Given the description of an element on the screen output the (x, y) to click on. 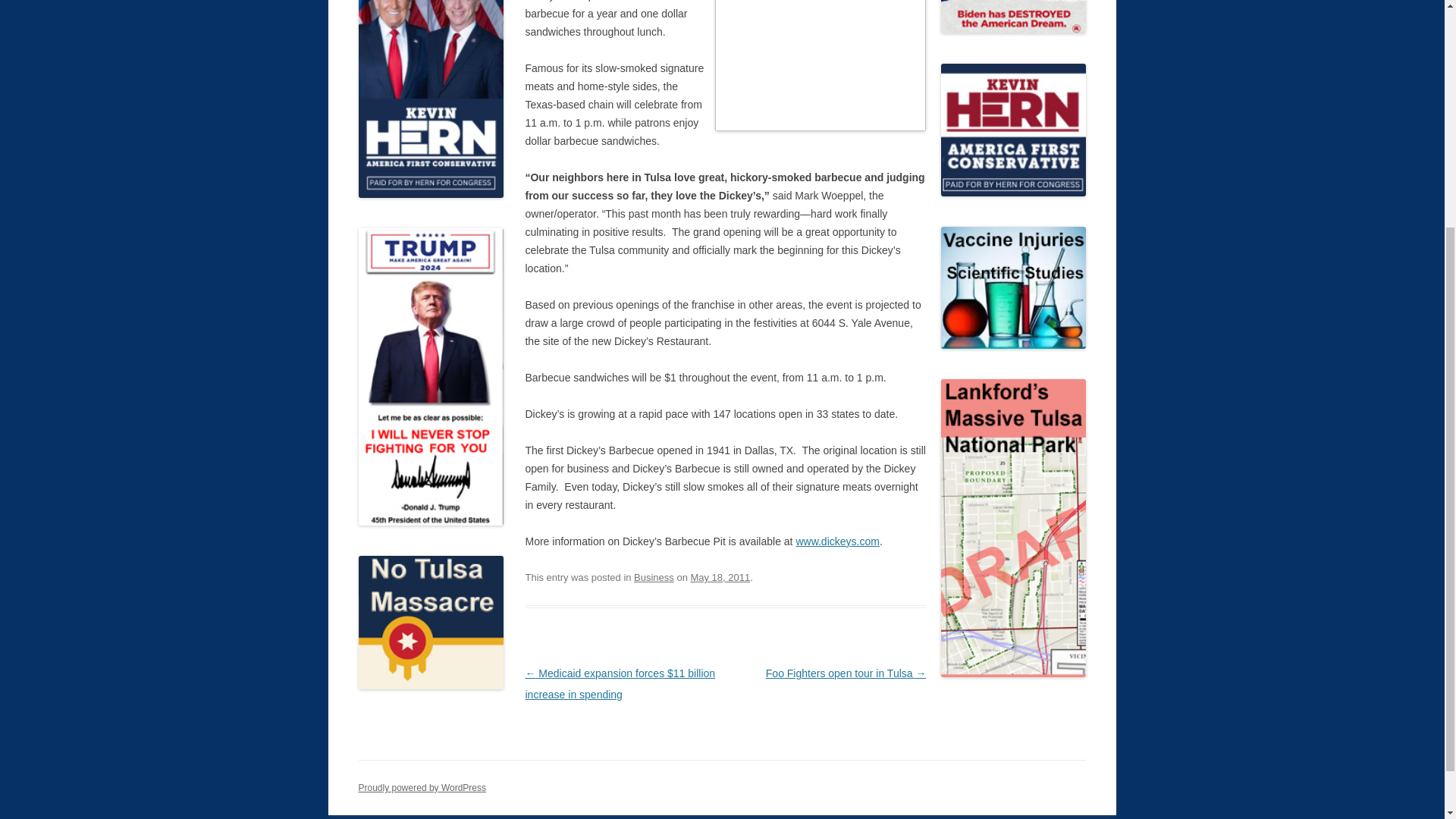
www.dickeys.com (836, 541)
Semantic Personal Publishing Platform (422, 787)
opens new window (836, 541)
Business (653, 577)
Proudly powered by WordPress (422, 787)
May 18, 2011 (719, 577)
3:27 pm (719, 577)
